Given the description of an element on the screen output the (x, y) to click on. 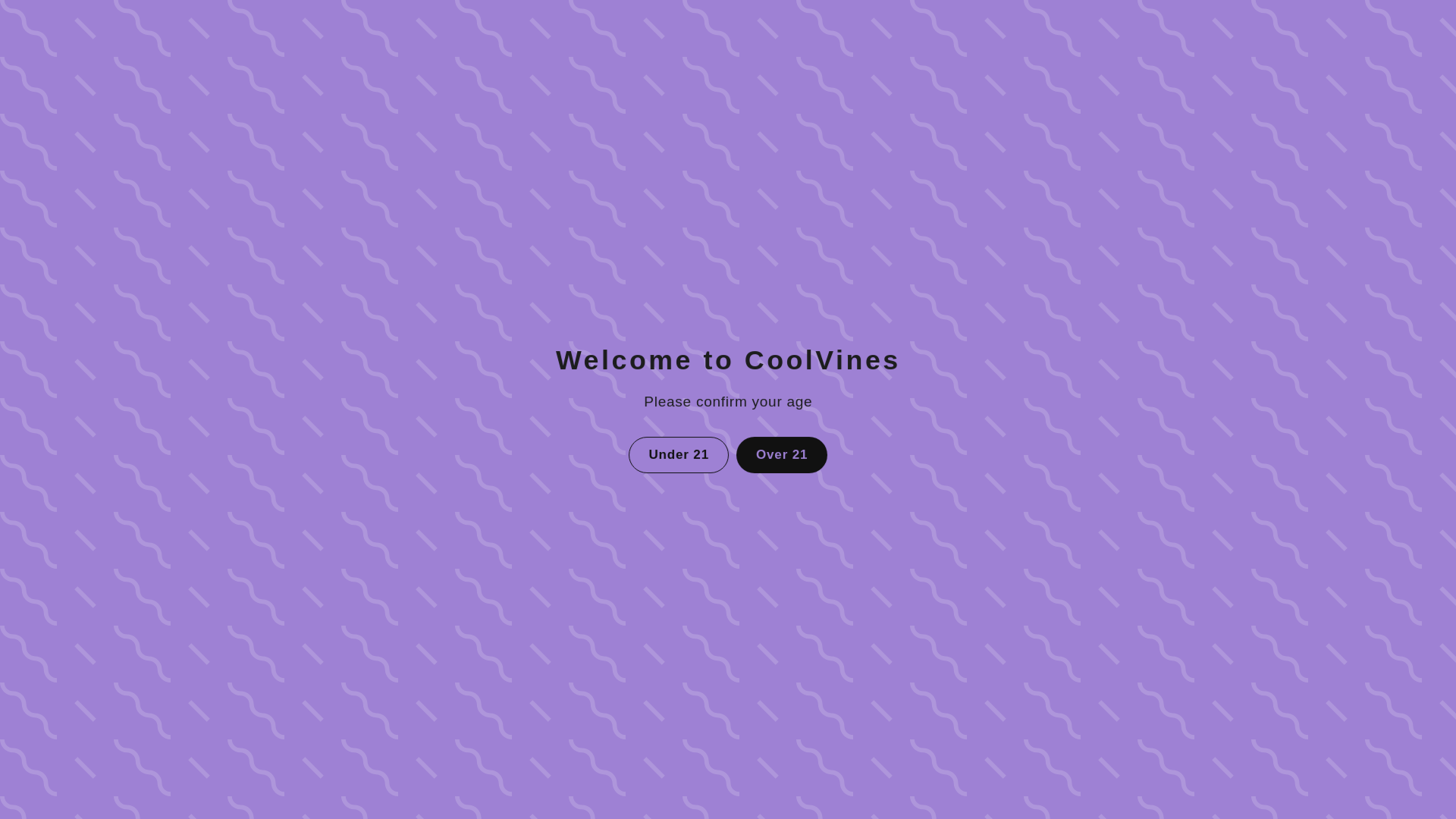
Sold Out (1018, 309)
Ask a question (727, 698)
Under 21 (680, 453)
Over 21 (781, 453)
